Given the description of an element on the screen output the (x, y) to click on. 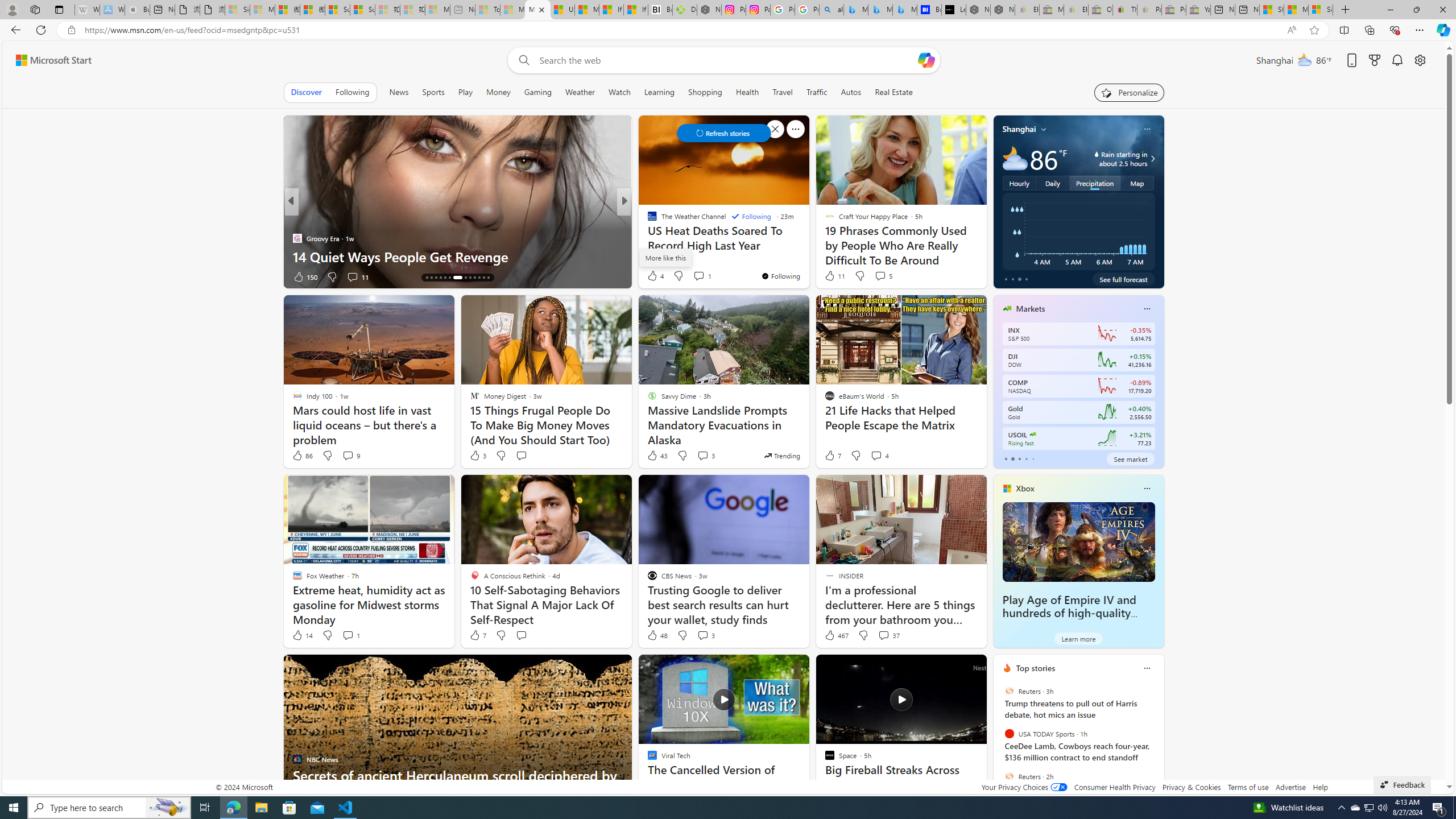
Map (1137, 183)
Enter your search term (726, 59)
This story is trending (781, 455)
Close tab (541, 9)
More options (1146, 668)
Yard, Garden & Outdoor Living - Sleeping (1197, 9)
Shanghai, China hourly forecast | Microsoft Weather (1271, 9)
Dislike (863, 634)
spot on news (647, 238)
ChaChingQueen (647, 219)
Traffic (816, 92)
Learning (659, 92)
